Given the description of an element on the screen output the (x, y) to click on. 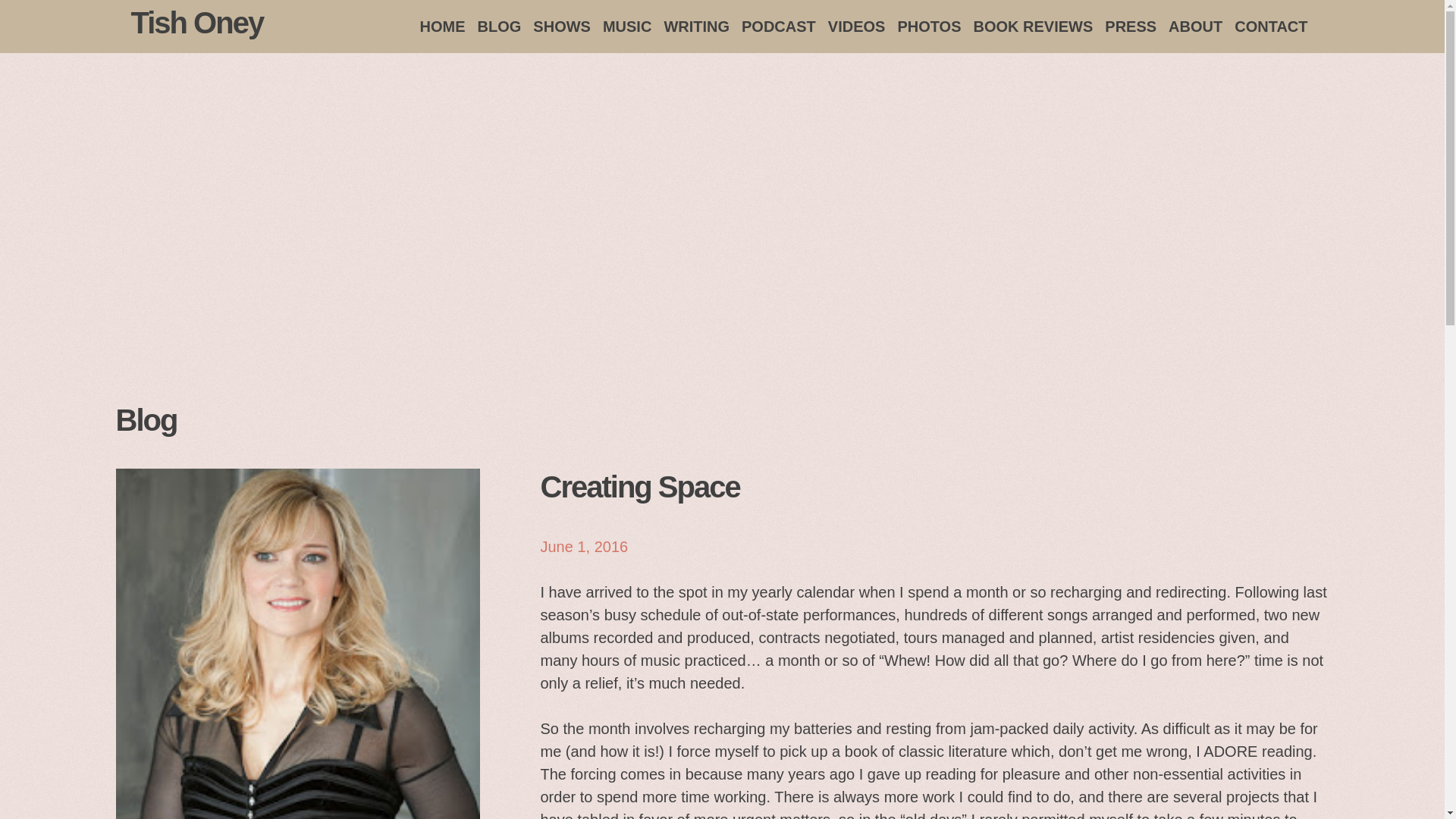
PRESS (1130, 26)
WRITING (696, 26)
BLOG (499, 26)
BOOK REVIEWS (1033, 26)
VIDEOS (856, 26)
PHOTOS (928, 26)
HOME (442, 26)
June 1, 2016 (583, 546)
ABOUT (1194, 26)
PODCAST (778, 26)
